Given the description of an element on the screen output the (x, y) to click on. 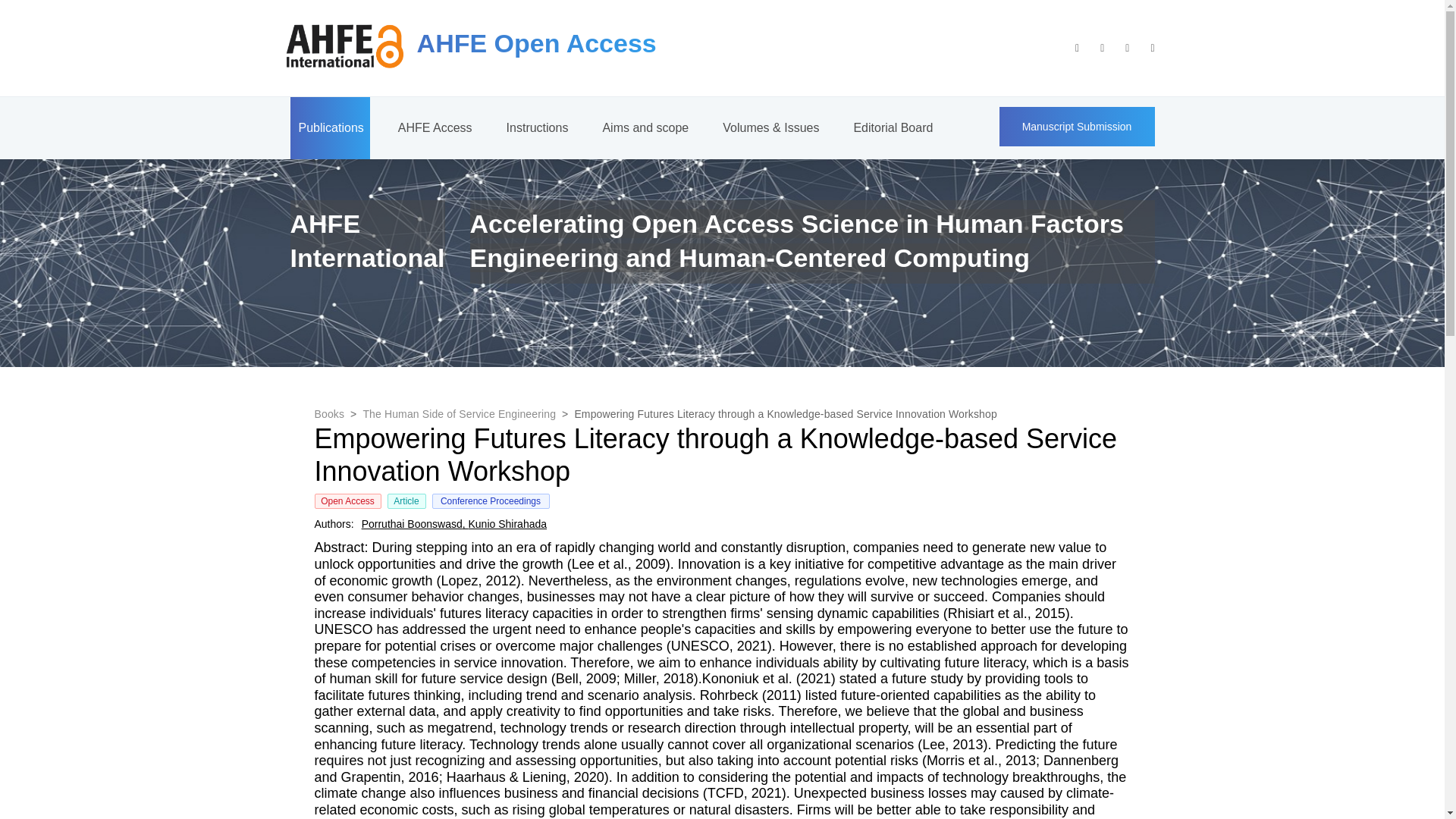
Publications (329, 127)
Instructions (536, 127)
Aims and scope (644, 127)
AHFE Access (434, 127)
The Human Side of Service Engineering (459, 413)
Manuscript Submission (1076, 125)
Editorial Board (891, 127)
Books (328, 413)
